Given the description of an element on the screen output the (x, y) to click on. 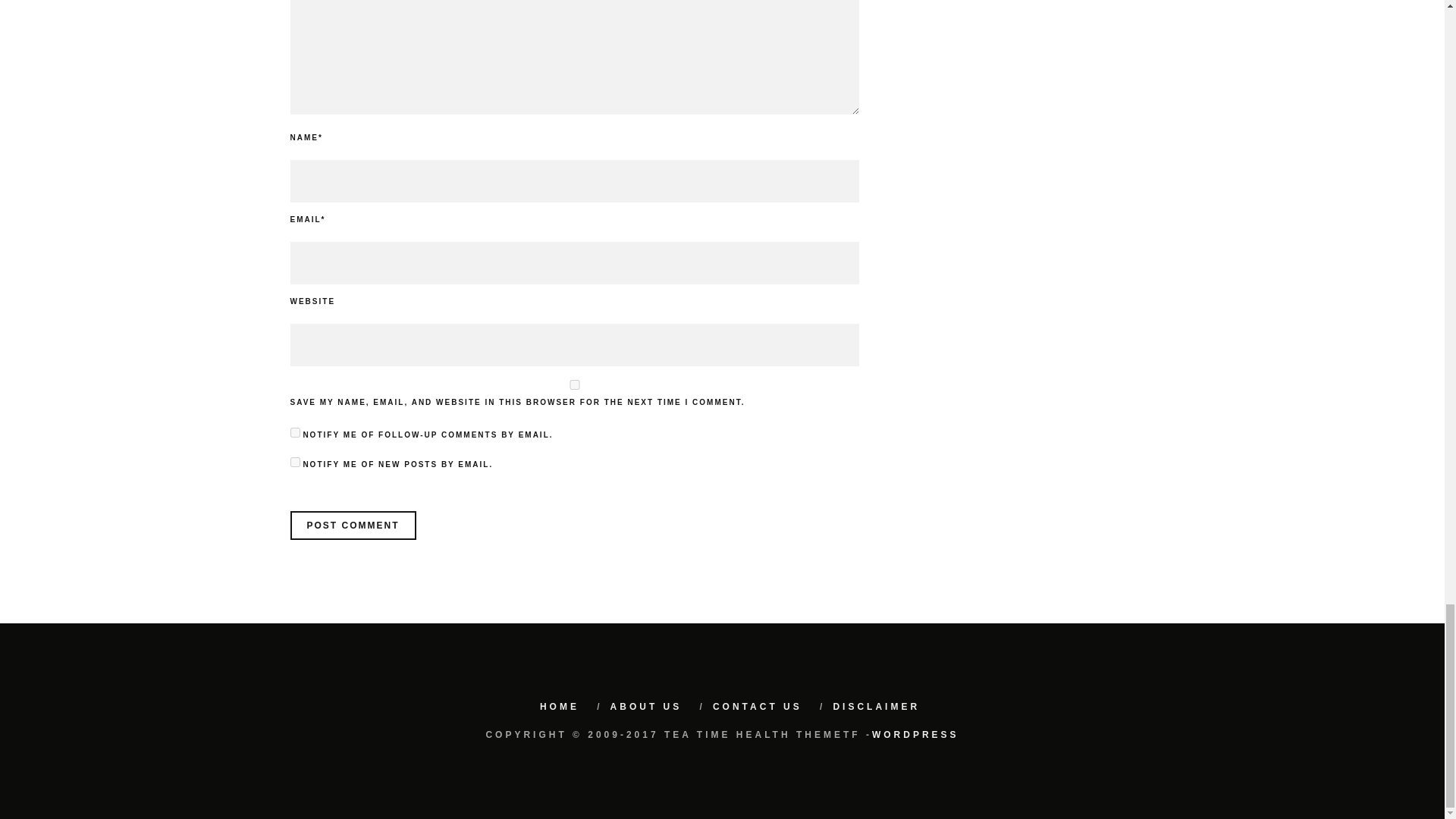
WordPress Magazine Theme (915, 734)
Post Comment (351, 525)
subscribe (294, 461)
yes (574, 384)
subscribe (294, 432)
